Given the description of an element on the screen output the (x, y) to click on. 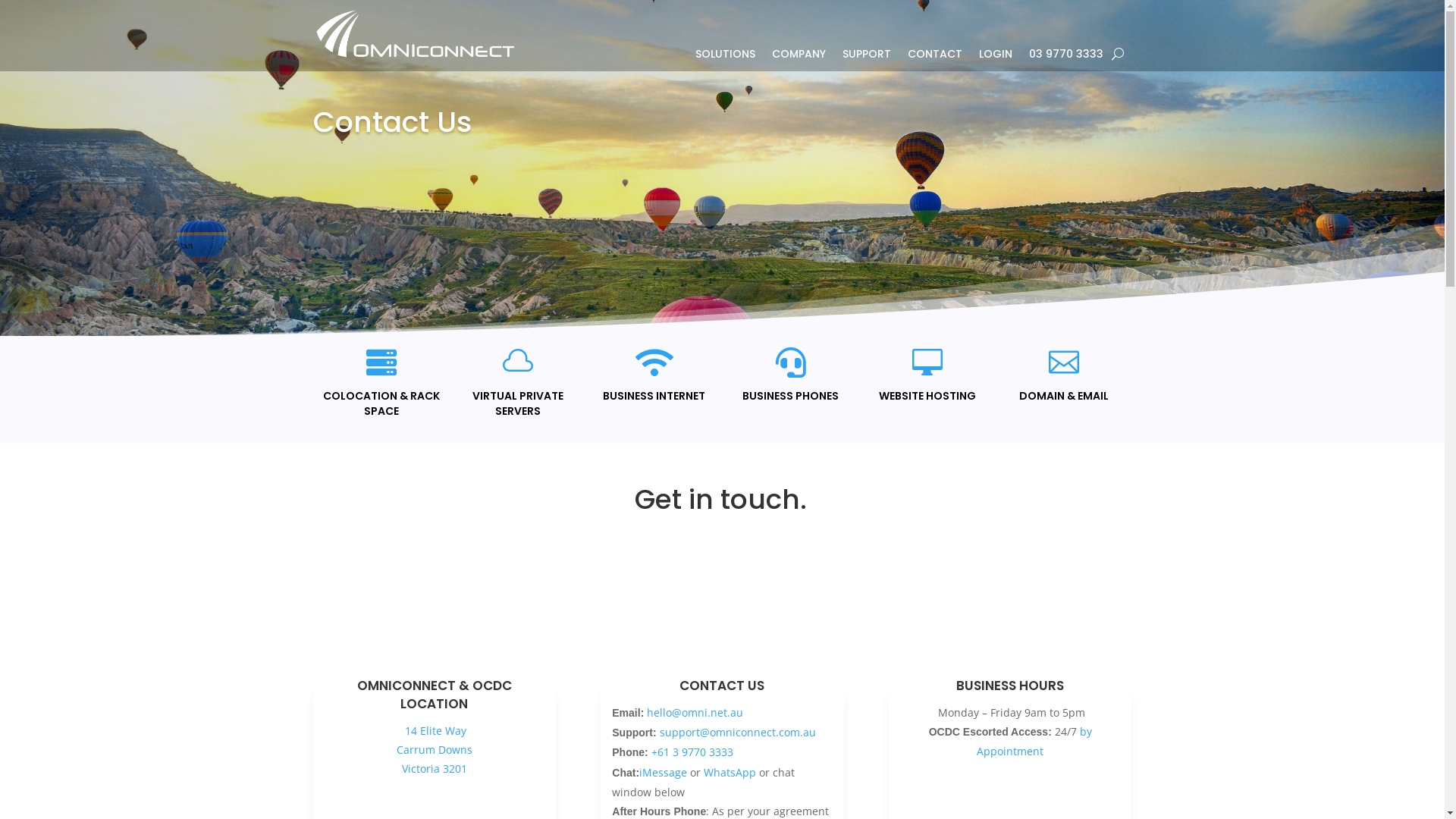
support@omniconnect.com.au Element type: text (737, 731)
DOMAIN & EMAIL Element type: text (1063, 395)
CONTACT Element type: text (933, 56)
WhatsApp Element type: text (729, 772)
BUSINESS PHONES Element type: text (790, 395)
SUPPORT Element type: text (865, 56)
hello@omni.net.au Element type: text (694, 712)
03 9770 3333 Element type: text (1065, 56)
SOLUTIONS Element type: text (724, 56)
 14 Elite Way Element type: text (433, 730)
Carrum Downs Element type: text (434, 749)
LOGIN Element type: text (994, 56)
VIRTUAL PRIVATE SERVERS Element type: text (516, 403)
by Appointment Element type: text (1034, 741)
WEBSITE HOSTING Element type: text (926, 395)
Victoria 3201 Element type: text (434, 768)
COMPANY Element type: text (798, 56)
BUSINESS INTERNET Element type: text (653, 395)
COLOCATION & RACK SPACE Element type: text (381, 403)
+61 3 9770 3333 Element type: text (692, 751)
logo-omni-white Element type: hover (414, 33)
iMessage Element type: text (663, 772)
